Given the description of an element on the screen output the (x, y) to click on. 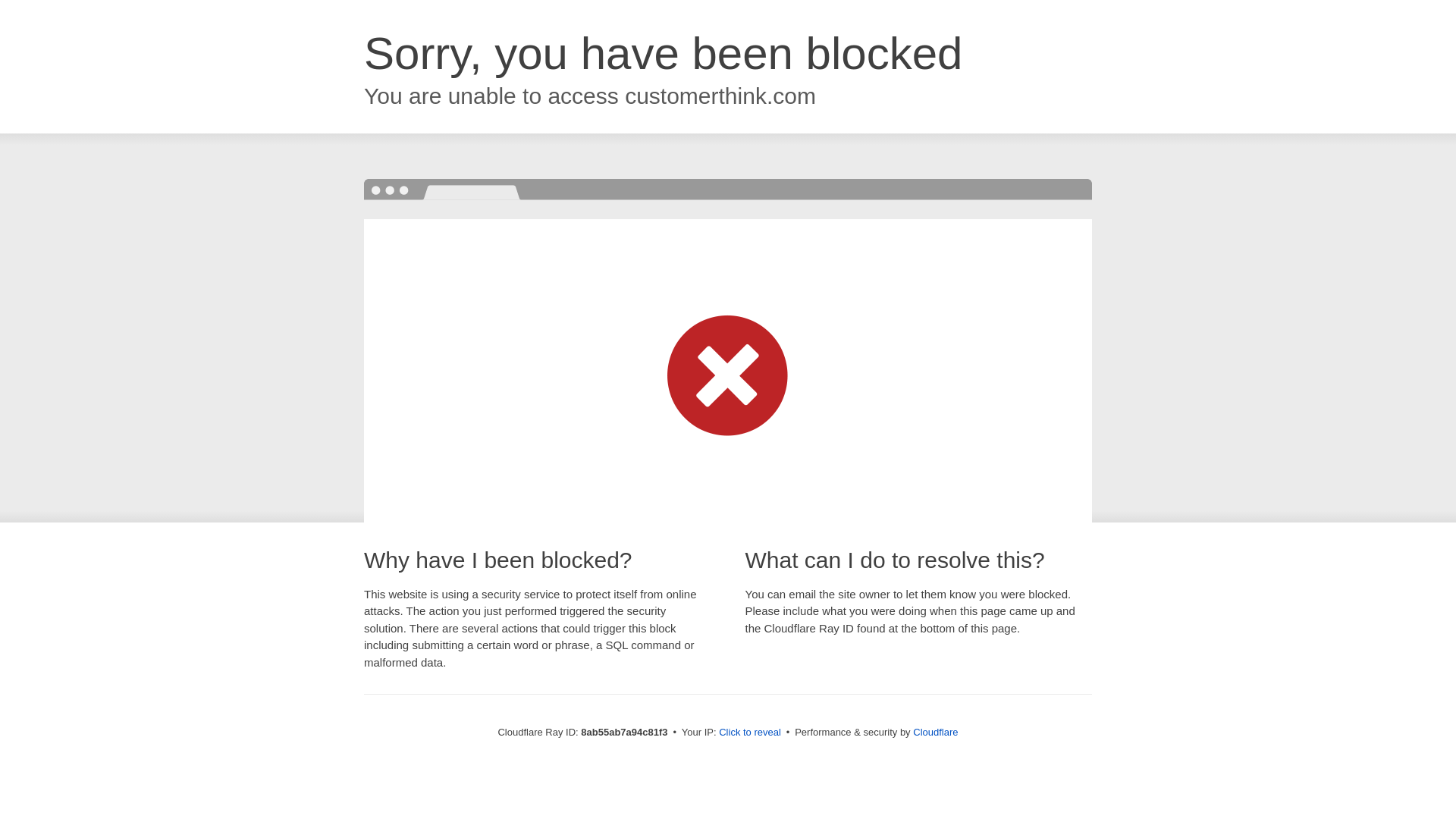
Cloudflare (935, 731)
Click to reveal (749, 732)
